Given the description of an element on the screen output the (x, y) to click on. 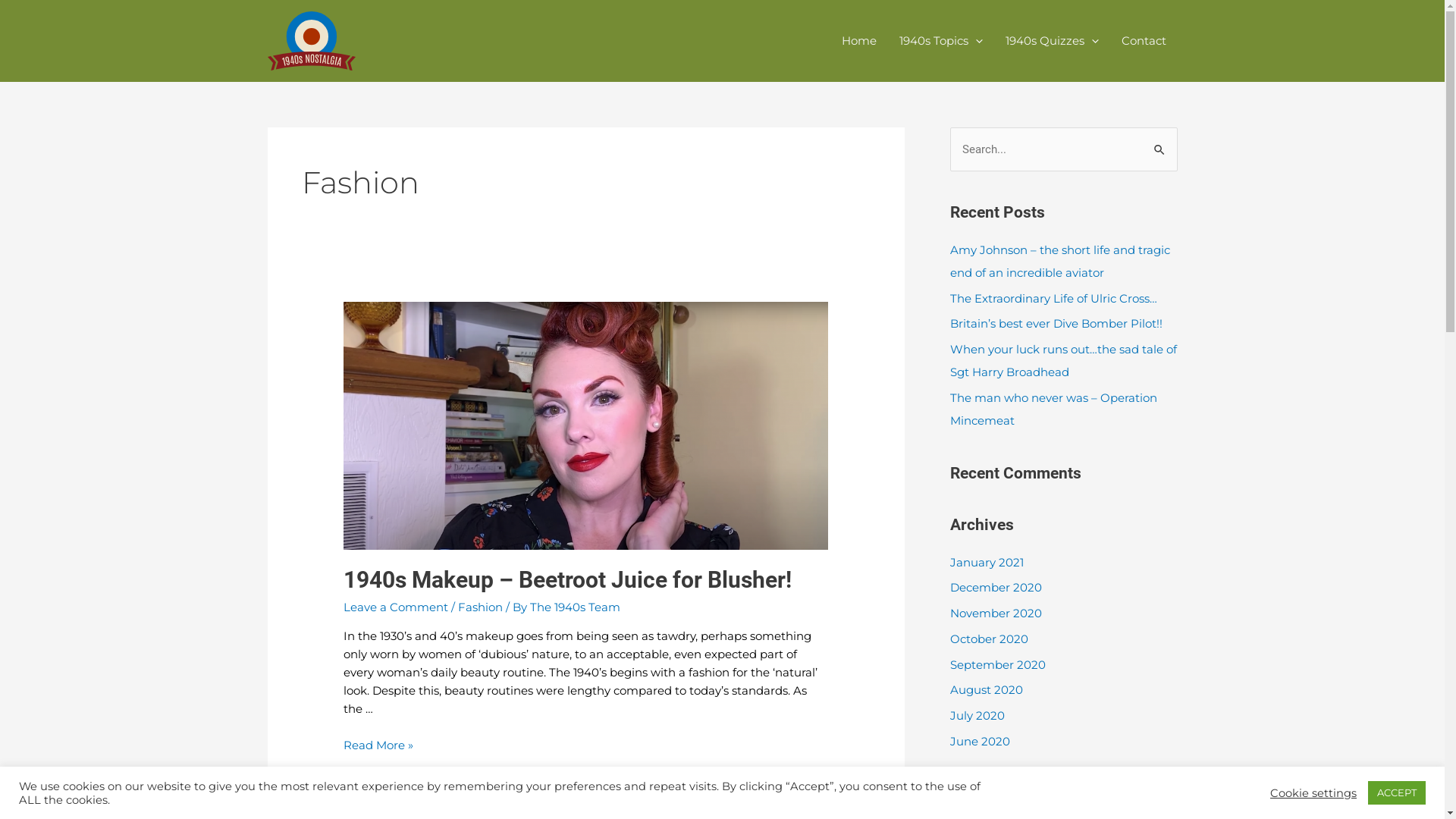
Search Element type: text (1160, 142)
October 2020 Element type: text (988, 638)
ACCEPT Element type: text (1396, 792)
Contact Element type: text (1143, 40)
Home Element type: text (858, 40)
Cookie settings Element type: text (1313, 792)
November 2020 Element type: text (995, 612)
1940s Quizzes Element type: text (1051, 40)
August 2020 Element type: text (985, 689)
July 2020 Element type: text (976, 715)
Fashion Element type: text (480, 606)
June 2020 Element type: text (979, 741)
January 2021 Element type: text (985, 562)
The 1940s Team Element type: text (575, 606)
September 2020 Element type: text (996, 664)
1940s Topics Element type: text (940, 40)
Leave a Comment Element type: text (395, 606)
December 2020 Element type: text (995, 587)
